Given the description of an element on the screen output the (x, y) to click on. 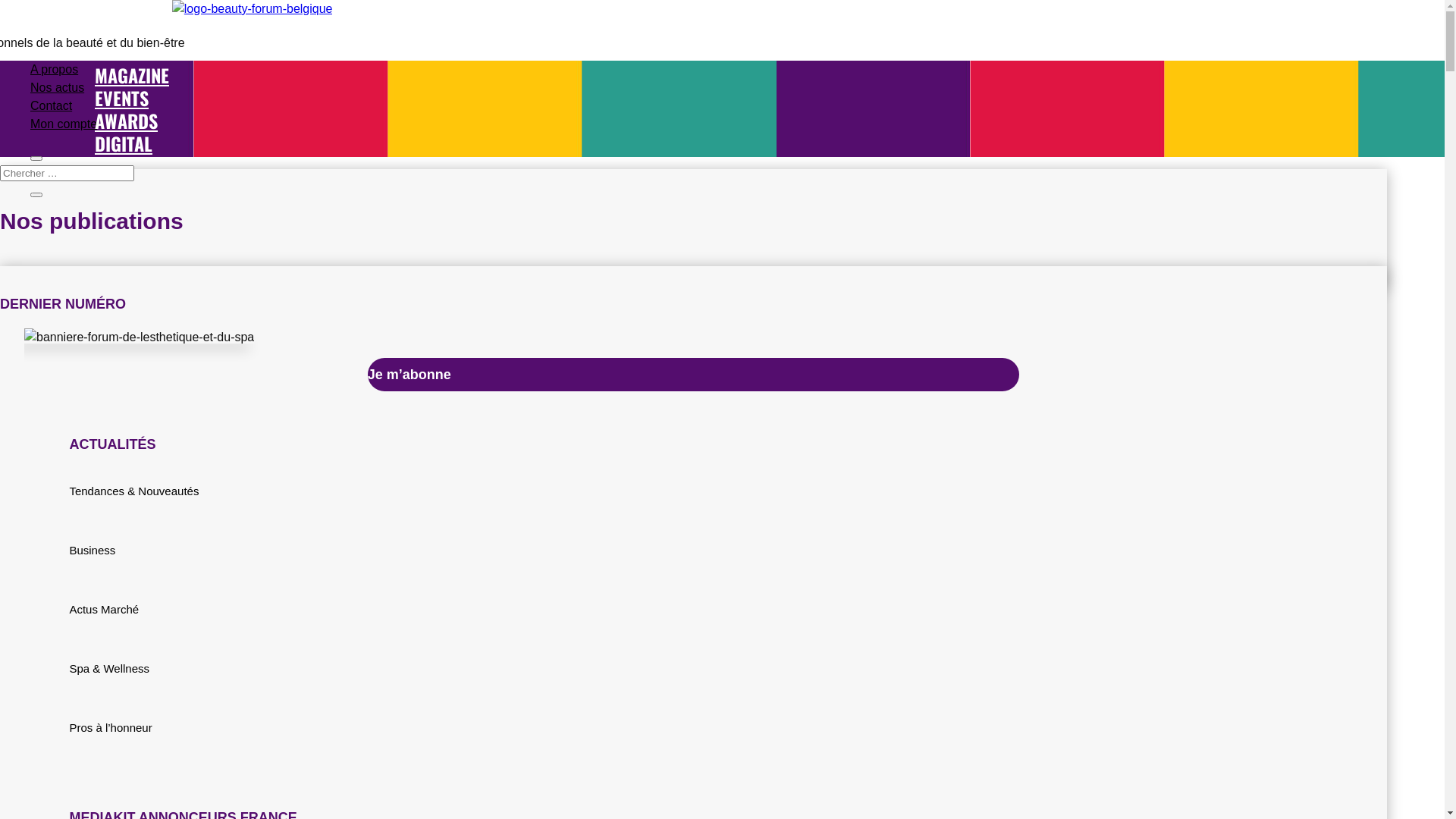
AWARDS Element type: text (125, 120)
Logo Beauty Forum Belgique Element type: hover (252, 9)
EVENTS Element type: text (121, 97)
Rechercher: Element type: hover (67, 173)
A propos Element type: text (54, 68)
Contact Element type: text (51, 105)
Abonnez vous le magzine de Beauty forum Element type: hover (139, 337)
MAGAZINE Element type: text (131, 74)
Mon compte Element type: text (63, 123)
DIGITAL Element type: text (123, 142)
Nos actus Element type: text (57, 87)
